Given the description of an element on the screen output the (x, y) to click on. 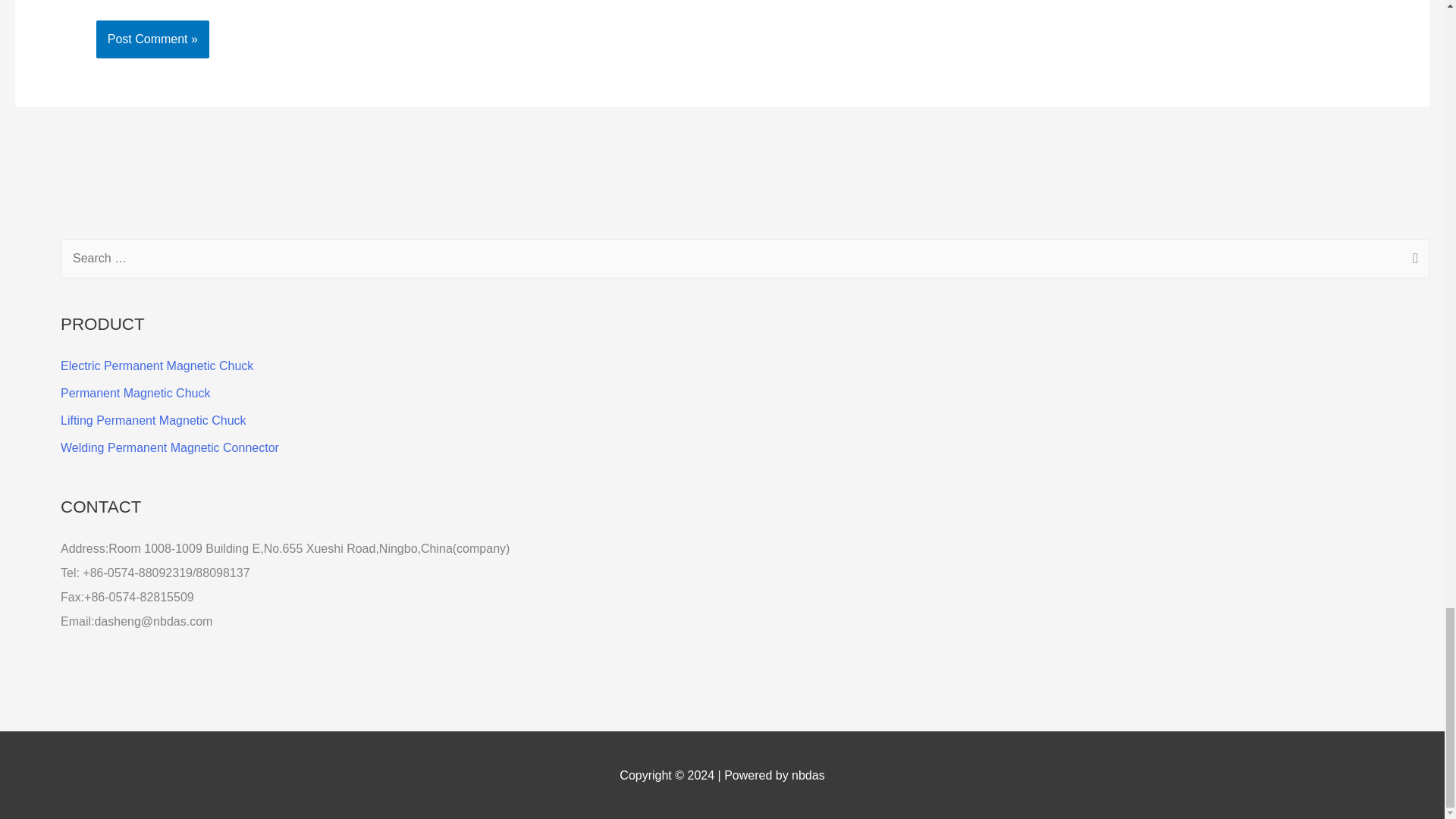
Lifting Permanent Magnetic Chuck (153, 420)
Permanent Magnetic Chuck (135, 392)
Electric Permanent Magnetic Chuck (157, 365)
Welding Permanent Magnetic Connector (170, 447)
